Given the description of an element on the screen output the (x, y) to click on. 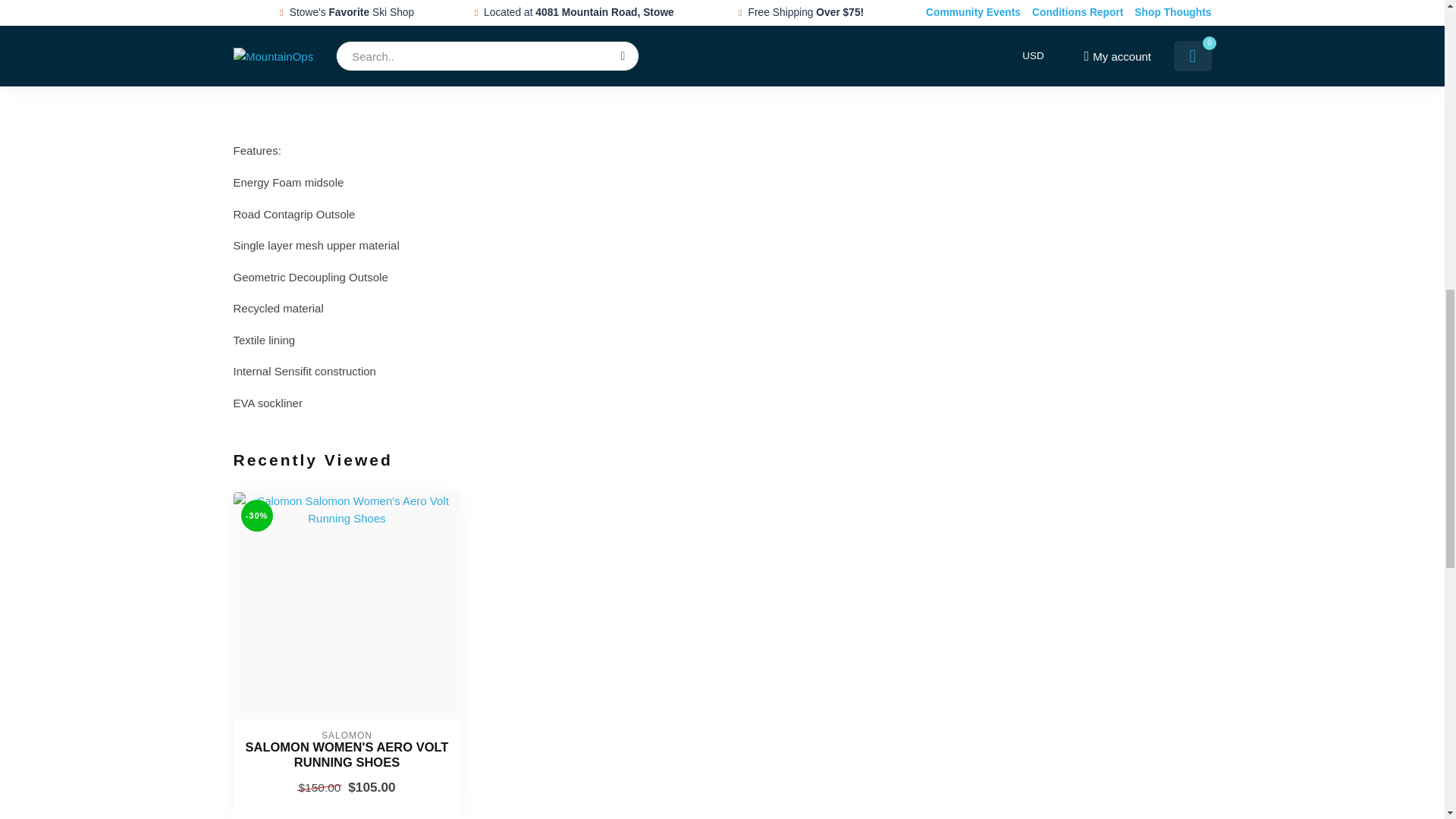
Salomon Salomon Women's Aero Volt Running Shoes (346, 755)
Salomon Salomon Women's Aero Volt Running Shoes (346, 605)
